Given the description of an element on the screen output the (x, y) to click on. 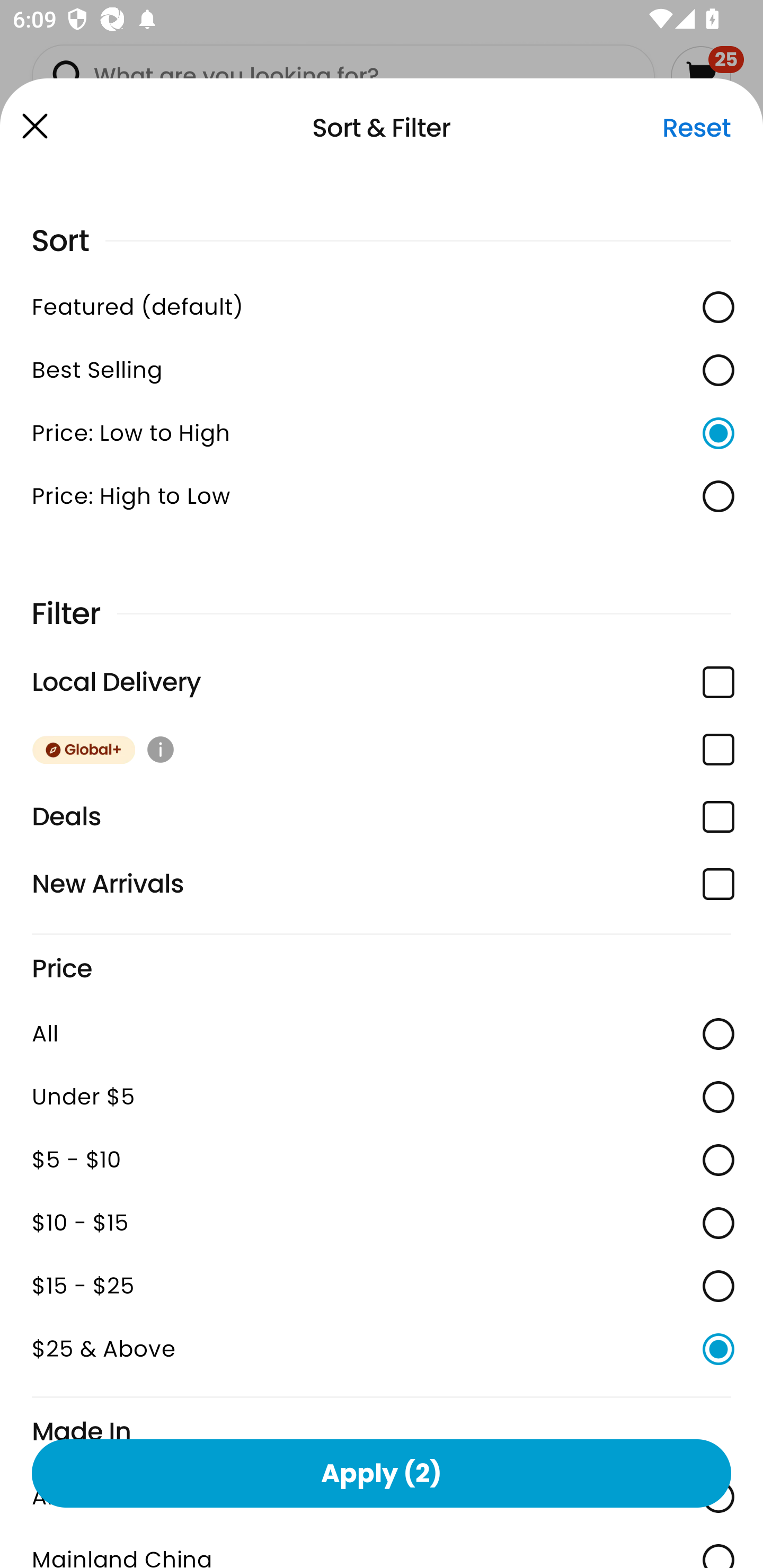
Reset (696, 127)
Apply (2) (381, 1472)
